Given the description of an element on the screen output the (x, y) to click on. 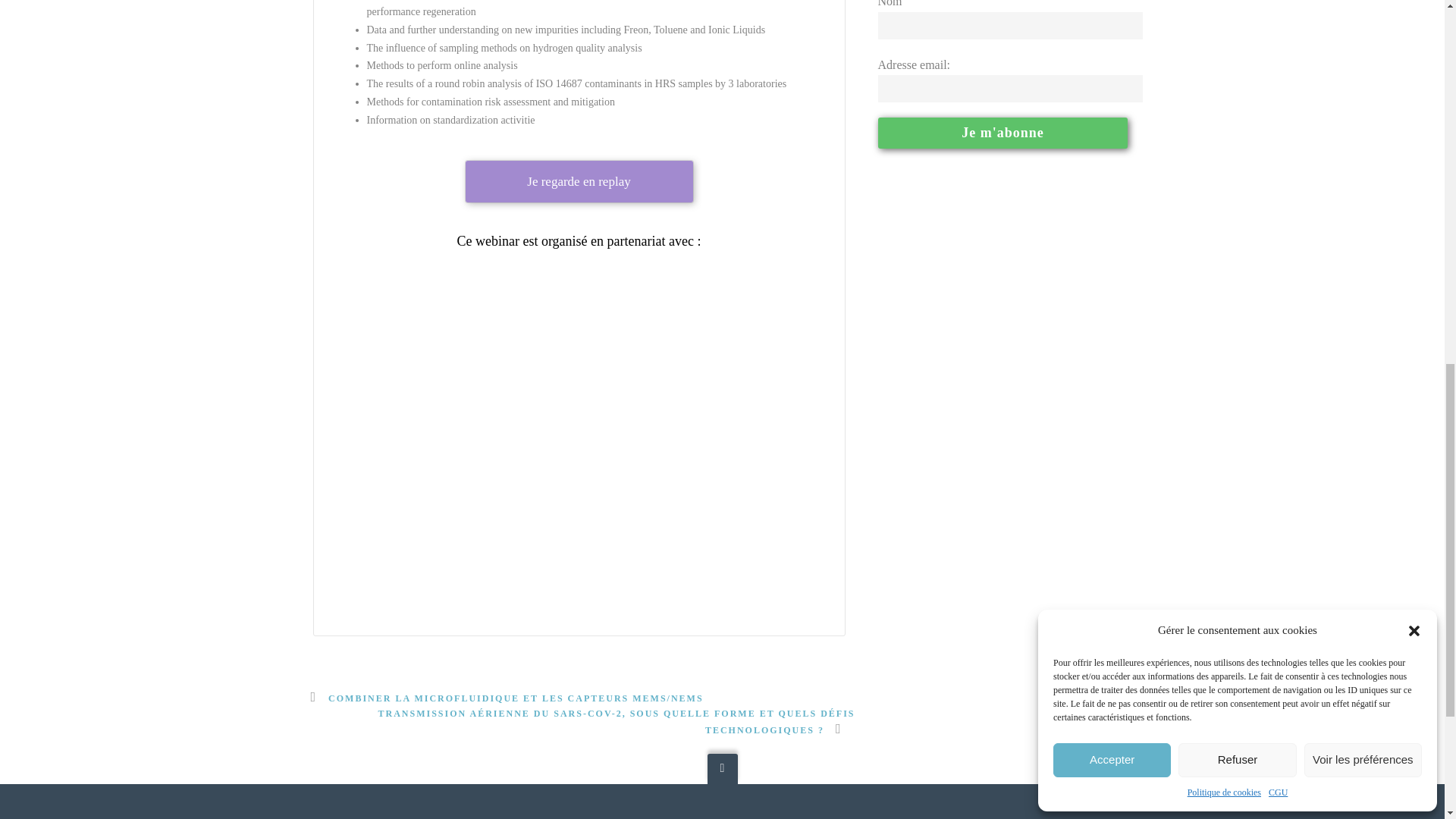
Je m'abonne (1002, 132)
